Given the description of an element on the screen output the (x, y) to click on. 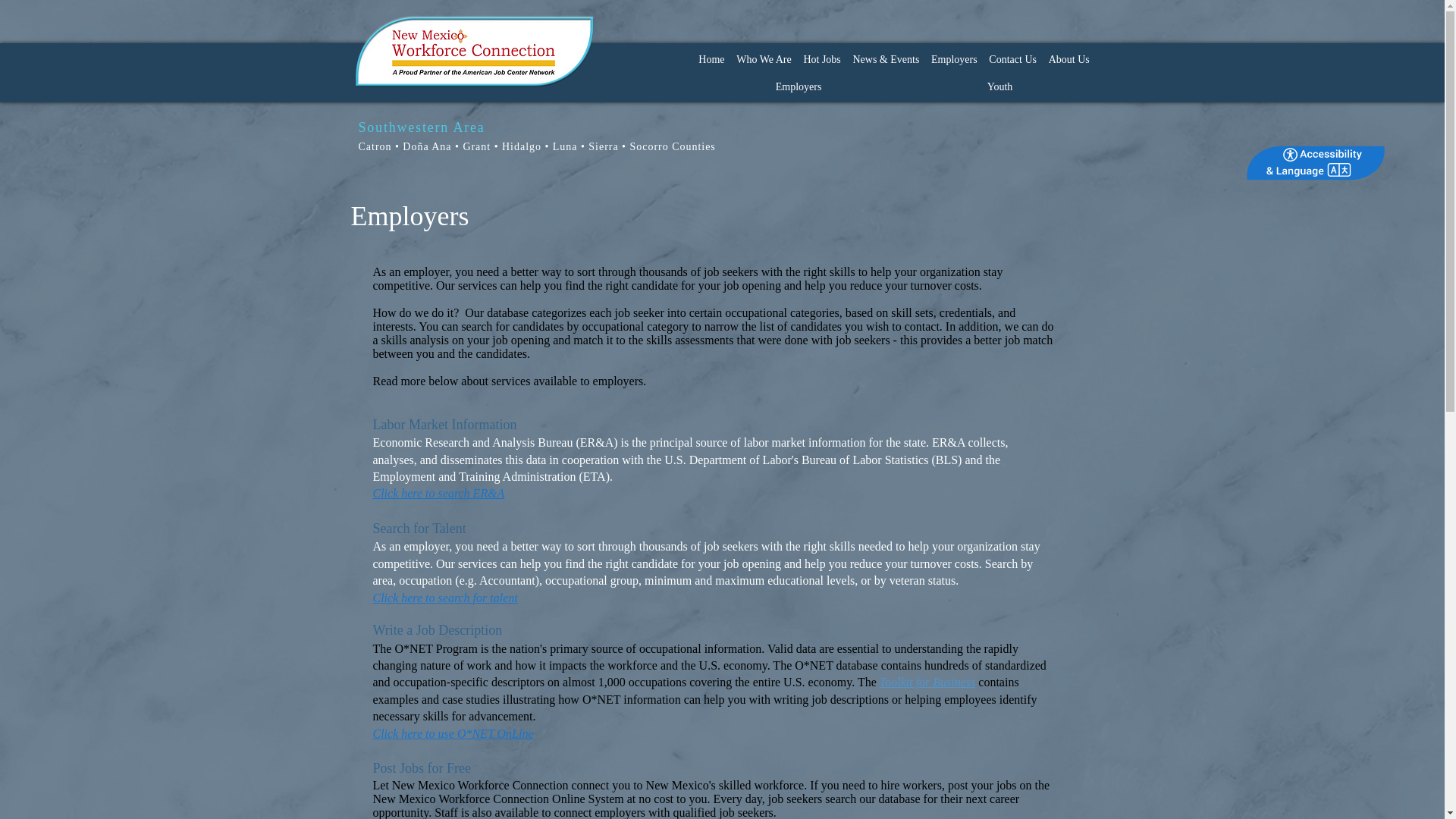
Employers (953, 59)
Who We Are (763, 59)
Launch Recite Me (1315, 163)
Toolkit for Business (927, 681)
Employers (797, 86)
Click here to search for talent (445, 597)
Hot Jobs (821, 59)
Home (711, 59)
Youth (1000, 86)
